Given the description of an element on the screen output the (x, y) to click on. 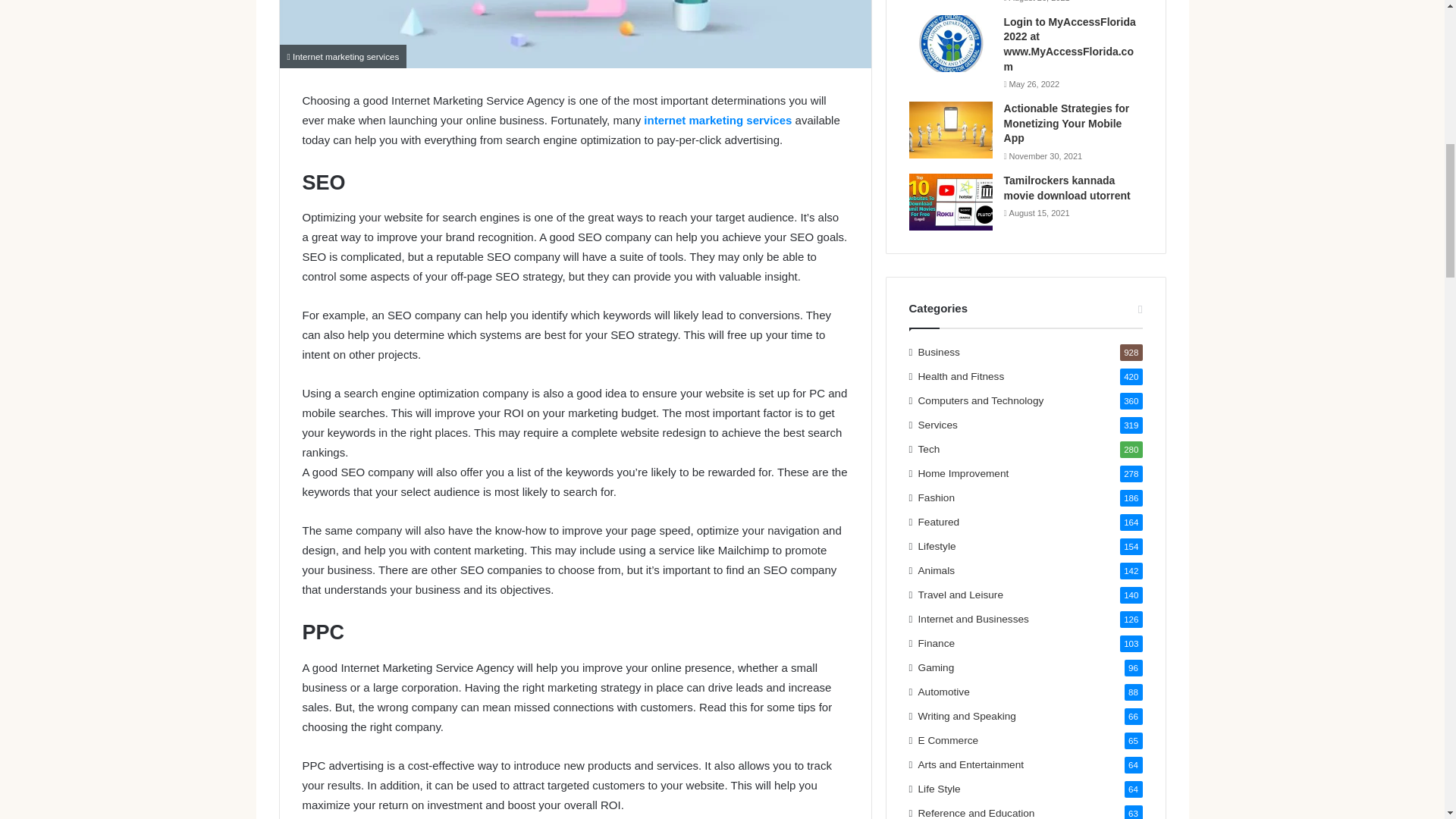
internet marketing services (717, 119)
